Given the description of an element on the screen output the (x, y) to click on. 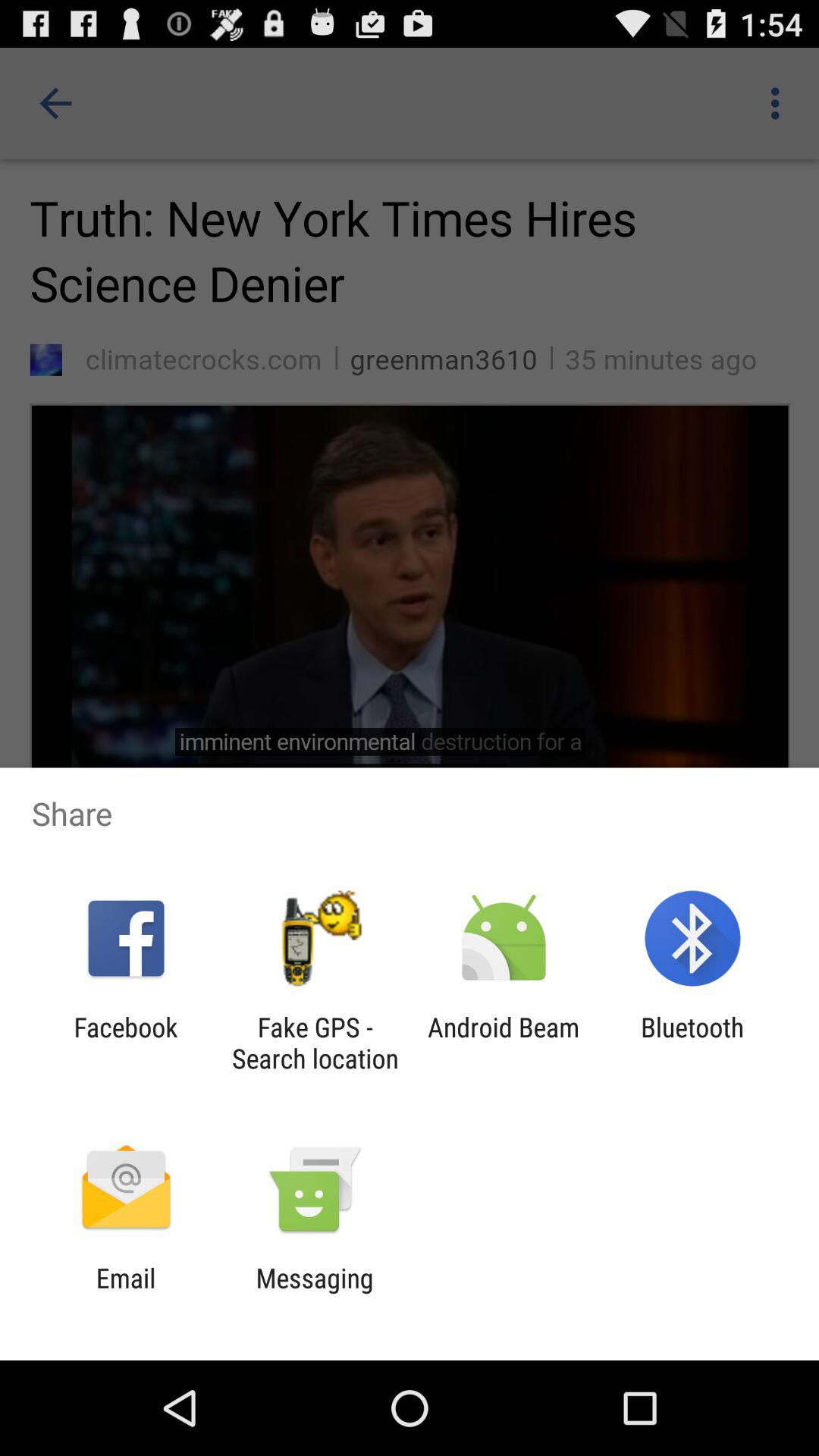
turn on app to the left of the fake gps search app (125, 1042)
